Given the description of an element on the screen output the (x, y) to click on. 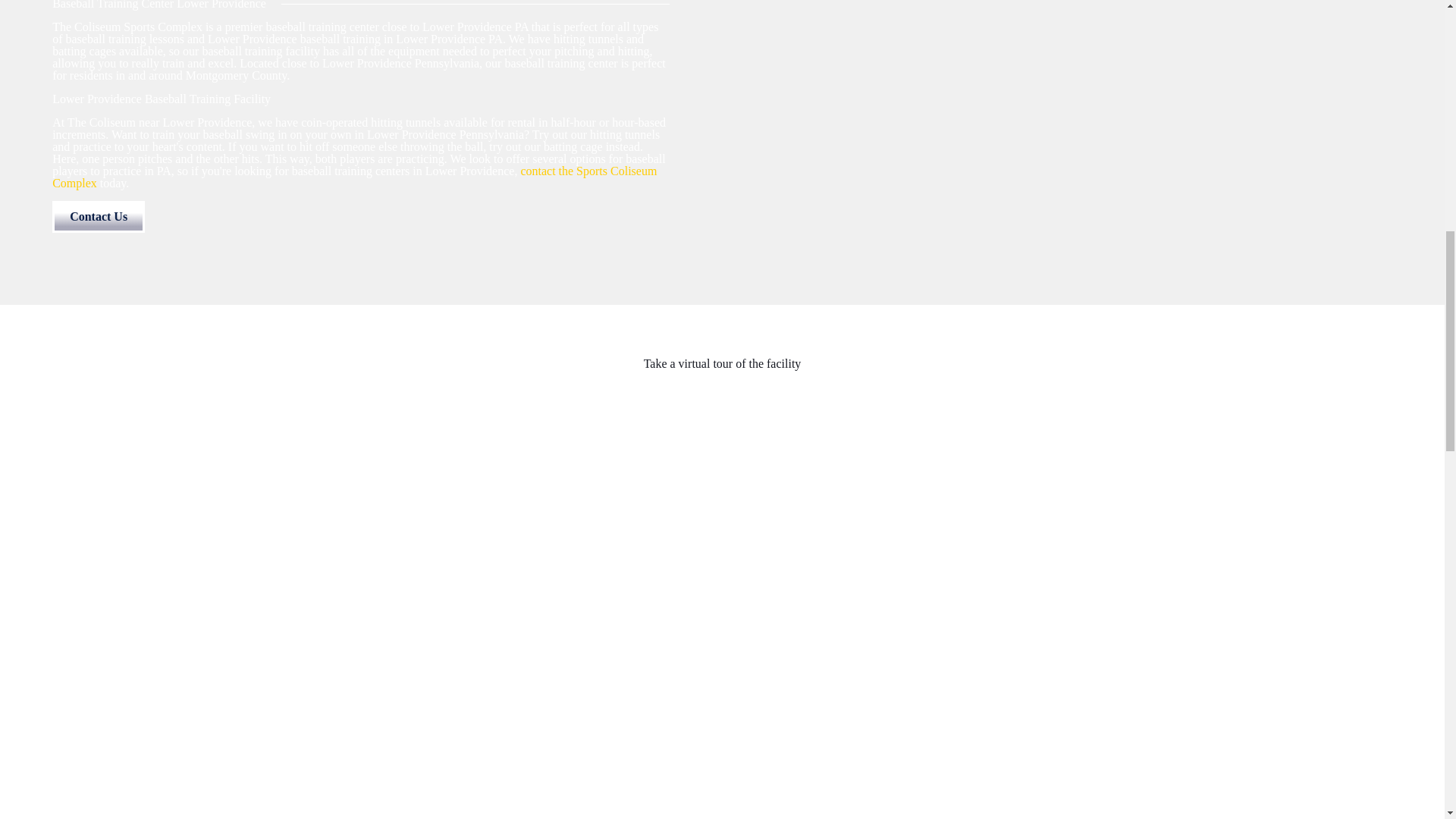
contact the Sports Coliseum Complex (354, 176)
Contact Us (98, 216)
